Given the description of an element on the screen output the (x, y) to click on. 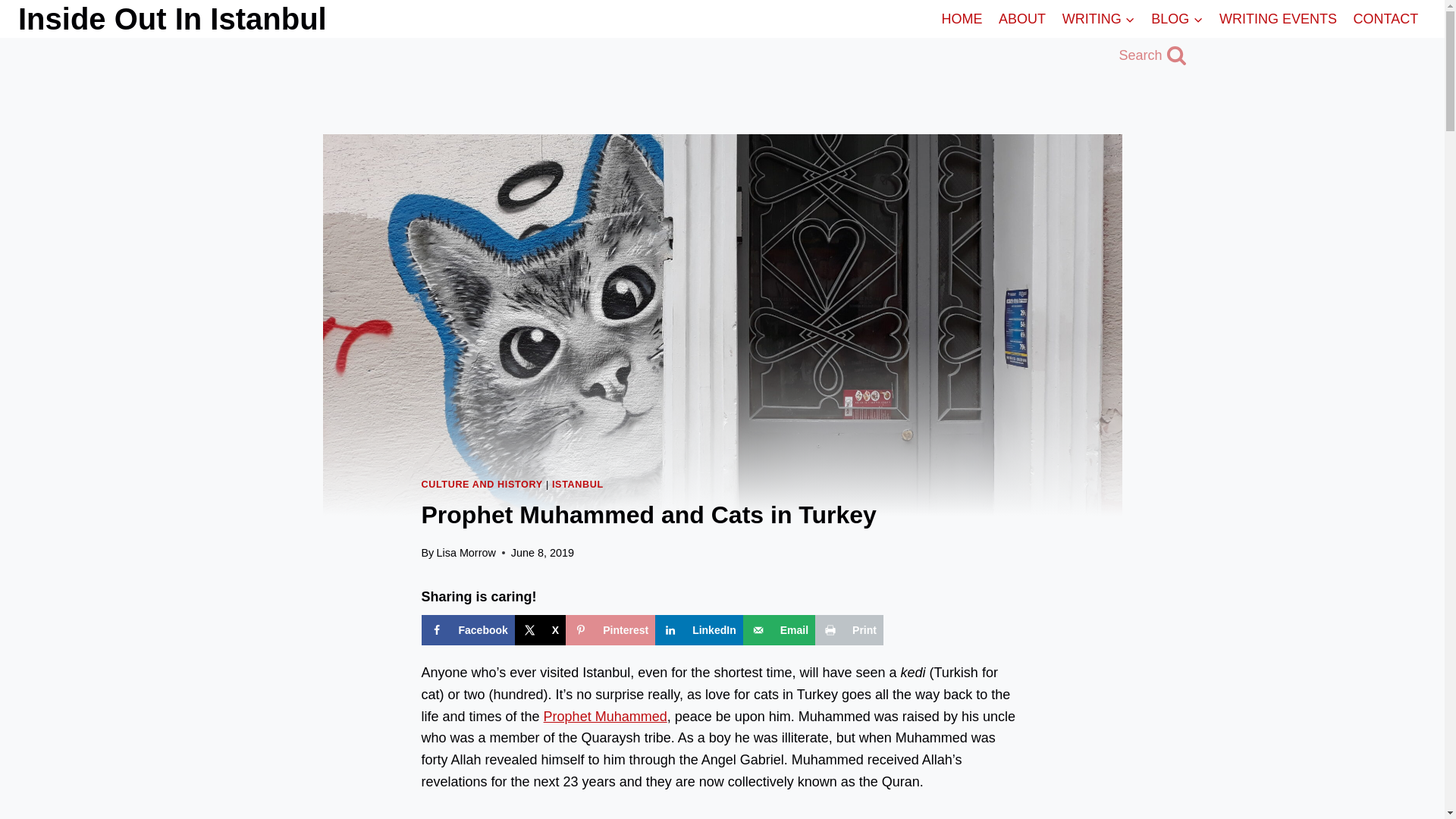
Share on X (540, 630)
Pinterest (610, 630)
Email (778, 630)
Prophet Muhammed (604, 716)
CONTACT (1385, 18)
BLOG (1176, 18)
Search (1152, 55)
ABOUT (1022, 18)
HOME (962, 18)
Inside Out In Istanbul (171, 18)
Print this webpage (849, 630)
CULTURE AND HISTORY (482, 484)
Facebook (468, 630)
WRITING EVENTS (1278, 18)
ISTANBUL (577, 484)
